Given the description of an element on the screen output the (x, y) to click on. 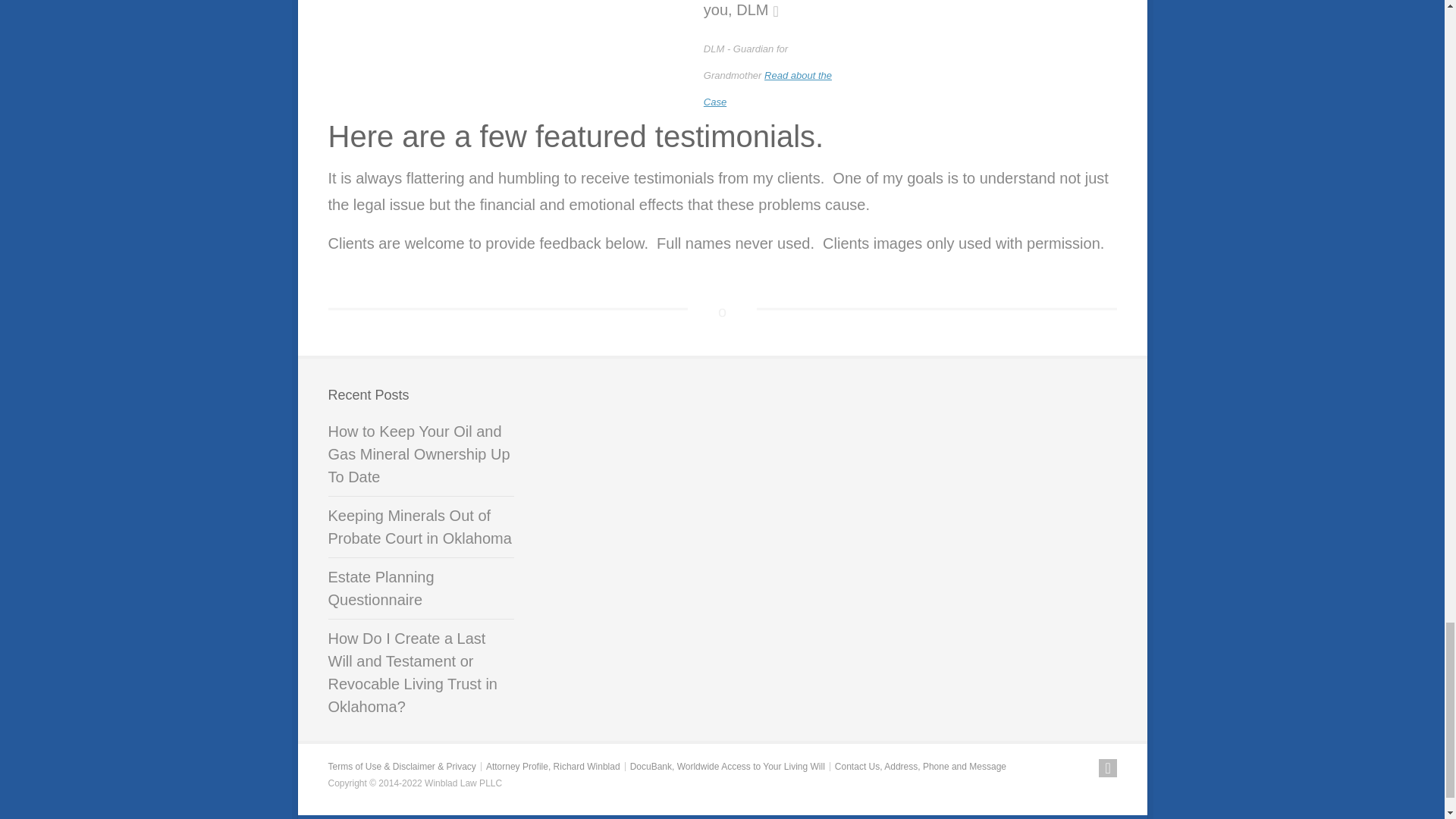
DocuBank, Worldwide Access to Your Living Will (727, 766)
Estate Planning Questionnaire (420, 592)
How to Keep Your Oil and Gas Mineral Ownership Up To Date (420, 458)
Attorney Profile, Richard Winblad (553, 766)
Read about the Case (767, 88)
Read about the Case (767, 88)
Keeping Minerals Out of Probate Court in Oklahoma (420, 530)
